Given the description of an element on the screen output the (x, y) to click on. 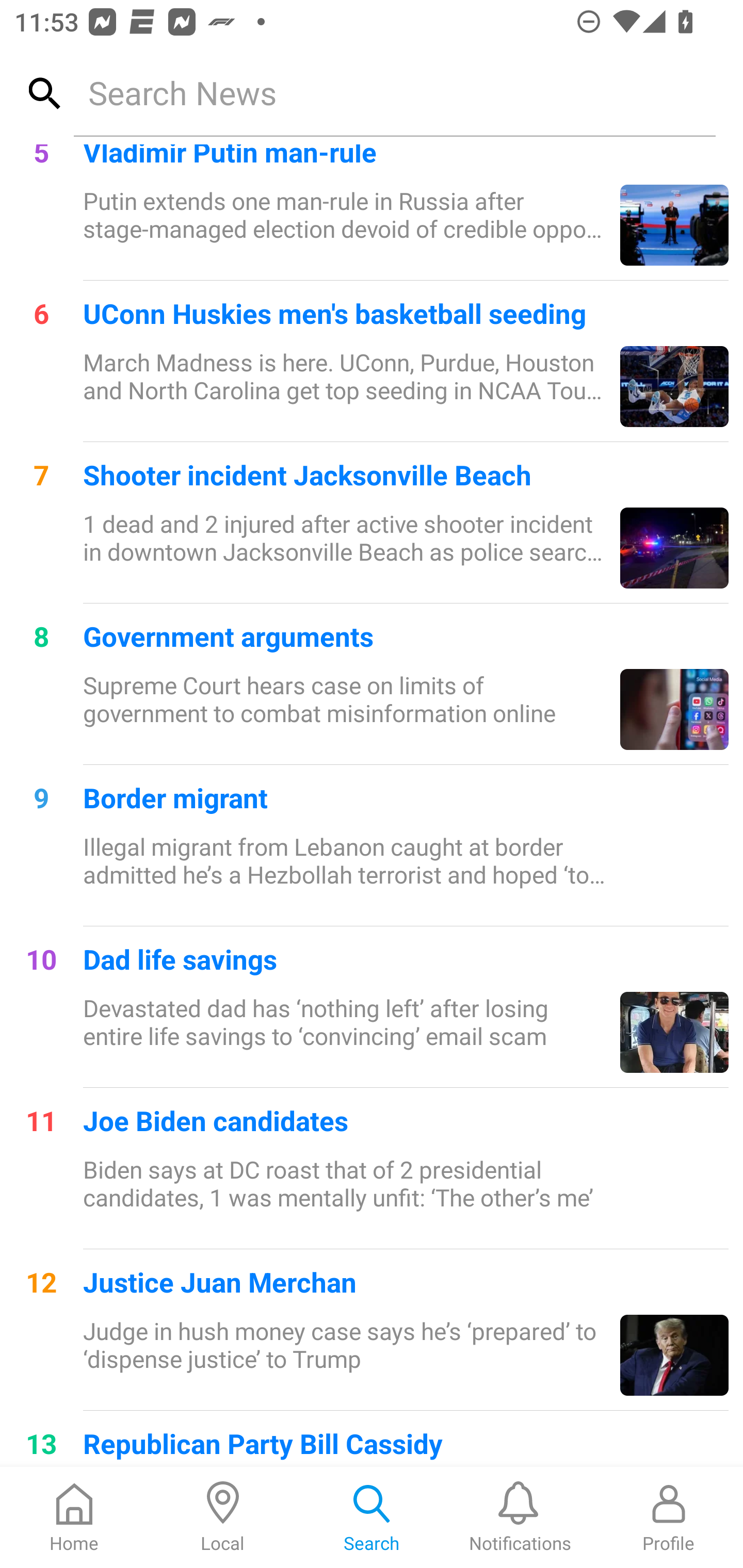
Search News (394, 92)
Home (74, 1517)
Local (222, 1517)
Notifications (519, 1517)
Profile (668, 1517)
